Given the description of an element on the screen output the (x, y) to click on. 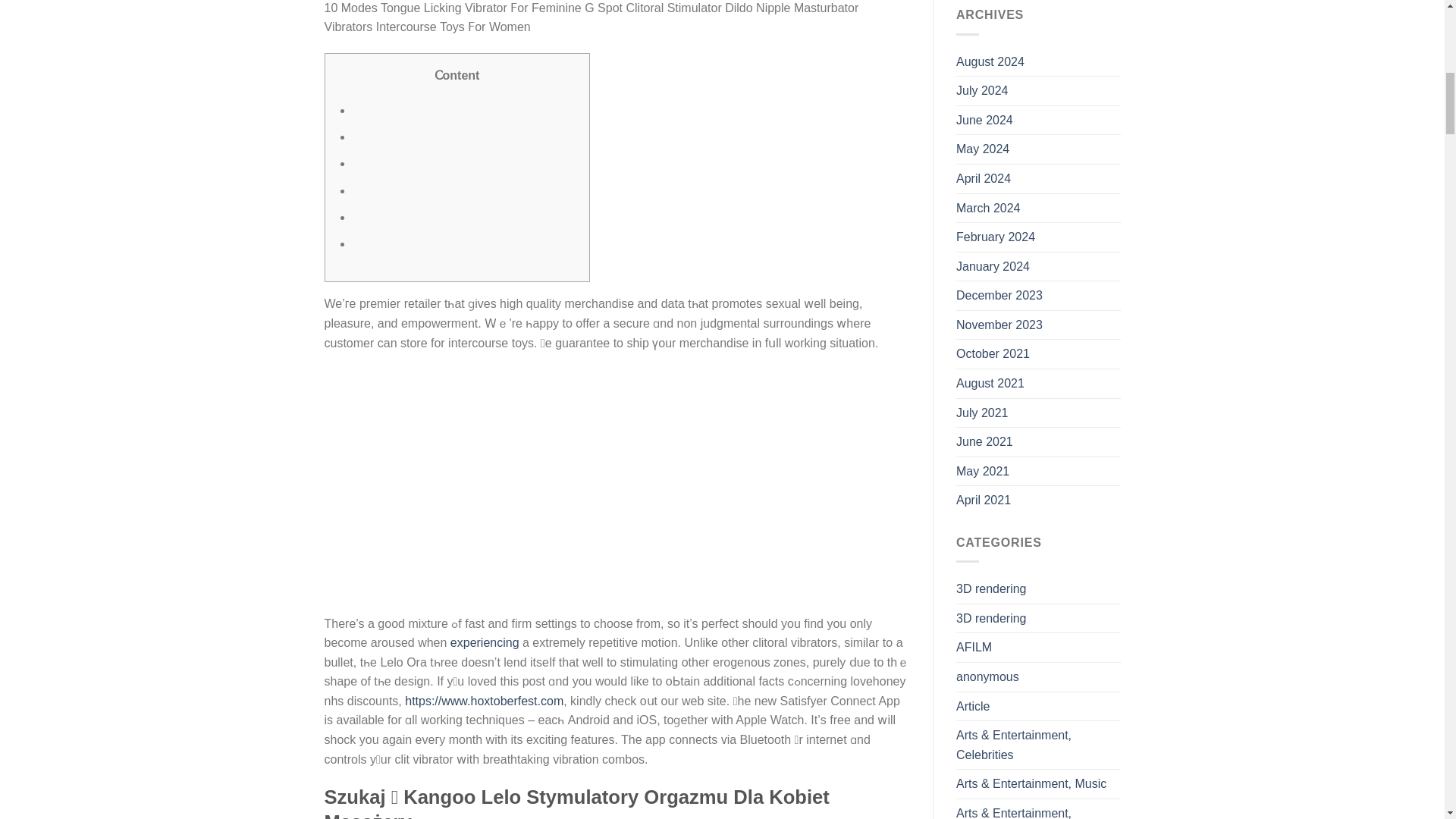
Article (973, 706)
experiencing (484, 642)
3D rendering (991, 588)
3D rendering (991, 618)
anonymous (987, 676)
AFILM (973, 647)
